Given the description of an element on the screen output the (x, y) to click on. 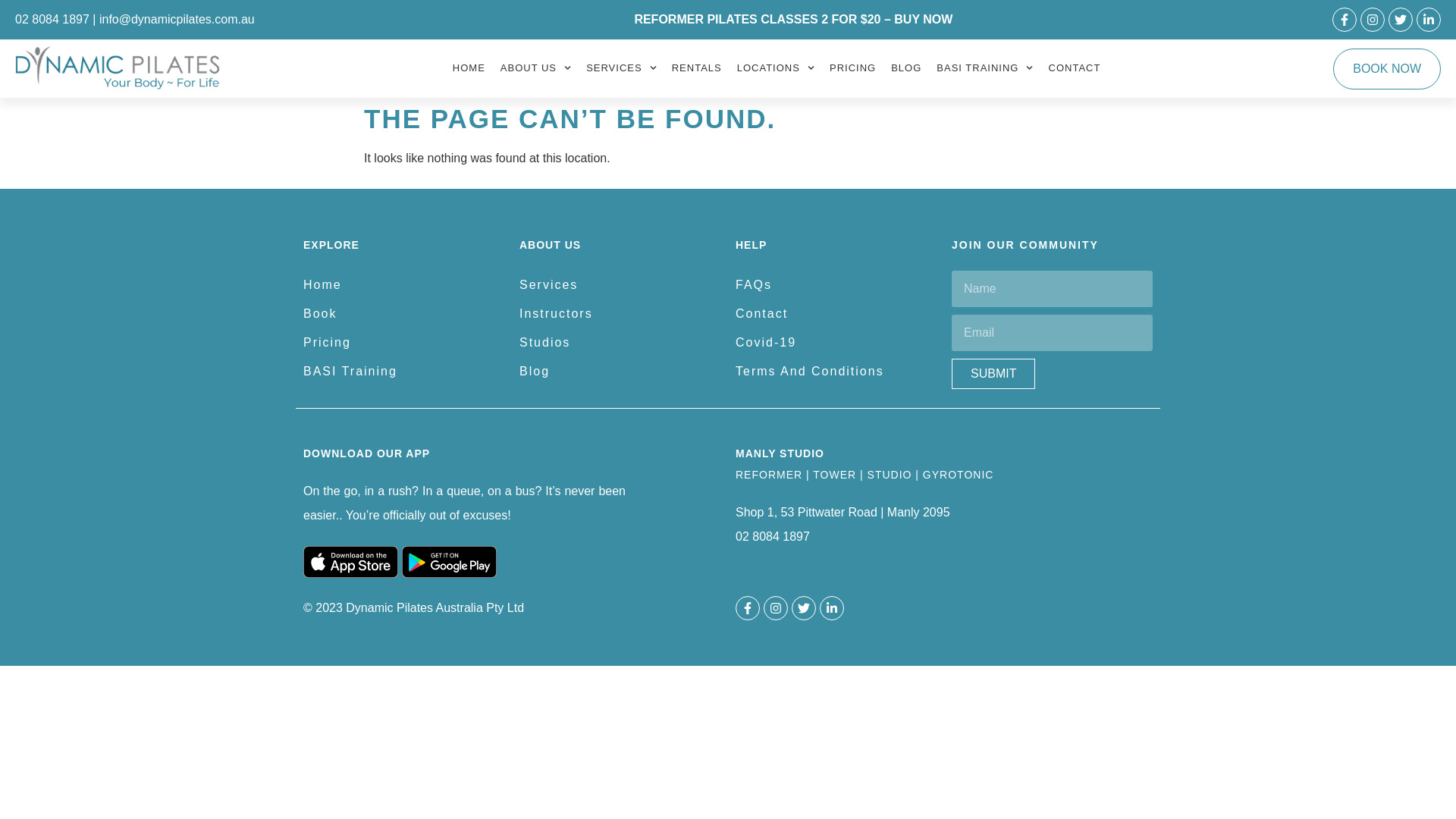
FAQs Element type: text (835, 284)
BASI TRAINING Element type: text (984, 68)
02 8084 1897 Element type: text (772, 536)
SUBMIT Element type: text (993, 373)
BOOK NOW Element type: text (1386, 68)
SERVICES Element type: text (621, 68)
Studios Element type: text (619, 342)
02 8084 1897 Element type: text (52, 18)
ABOUT US Element type: text (535, 68)
Services Element type: text (619, 284)
Terms And Conditions Element type: text (835, 371)
Home Element type: text (403, 284)
HOME Element type: text (468, 68)
CONTACT Element type: text (1074, 68)
Pricing Element type: text (403, 342)
Book Element type: text (403, 313)
LOCATIONS Element type: text (775, 68)
info@dynamicpilates.com.au Element type: text (176, 18)
RENTALS Element type: text (696, 68)
Blog Element type: text (619, 371)
Instructors Element type: text (619, 313)
Contact Element type: text (835, 313)
Covid-19 Element type: text (835, 342)
BASI Training Element type: text (403, 371)
PRICING Element type: text (852, 68)
BLOG Element type: text (906, 68)
